Given the description of an element on the screen output the (x, y) to click on. 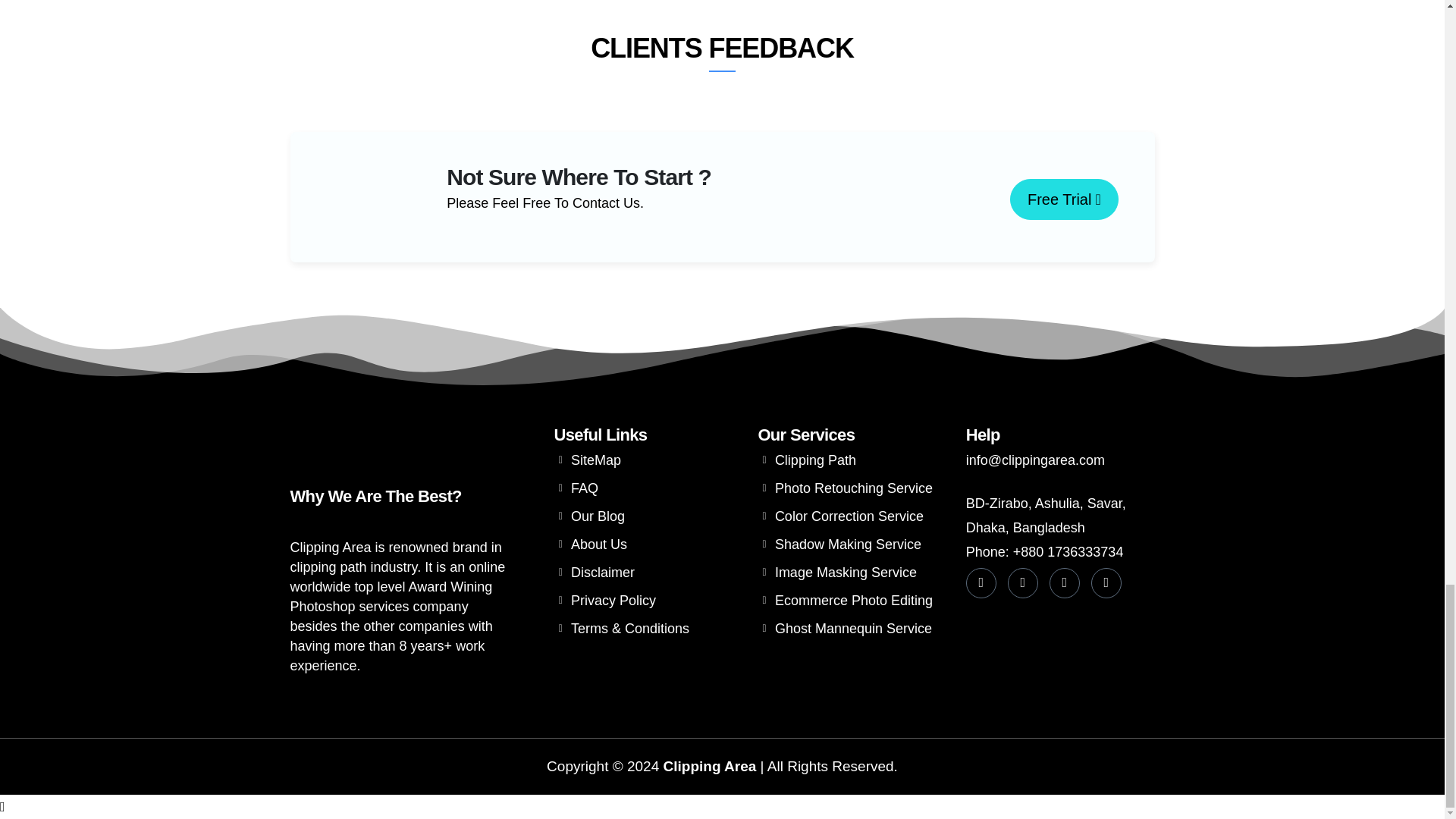
Free Trial (1064, 199)
Disclaimer (647, 572)
Privacy Policy (647, 600)
Shadow Making Service (857, 544)
Photo Retouching Service (857, 487)
About Us (647, 544)
Clipping Path (857, 459)
FAQ (647, 487)
Image Masking Service (857, 572)
SiteMap (647, 459)
